Given the description of an element on the screen output the (x, y) to click on. 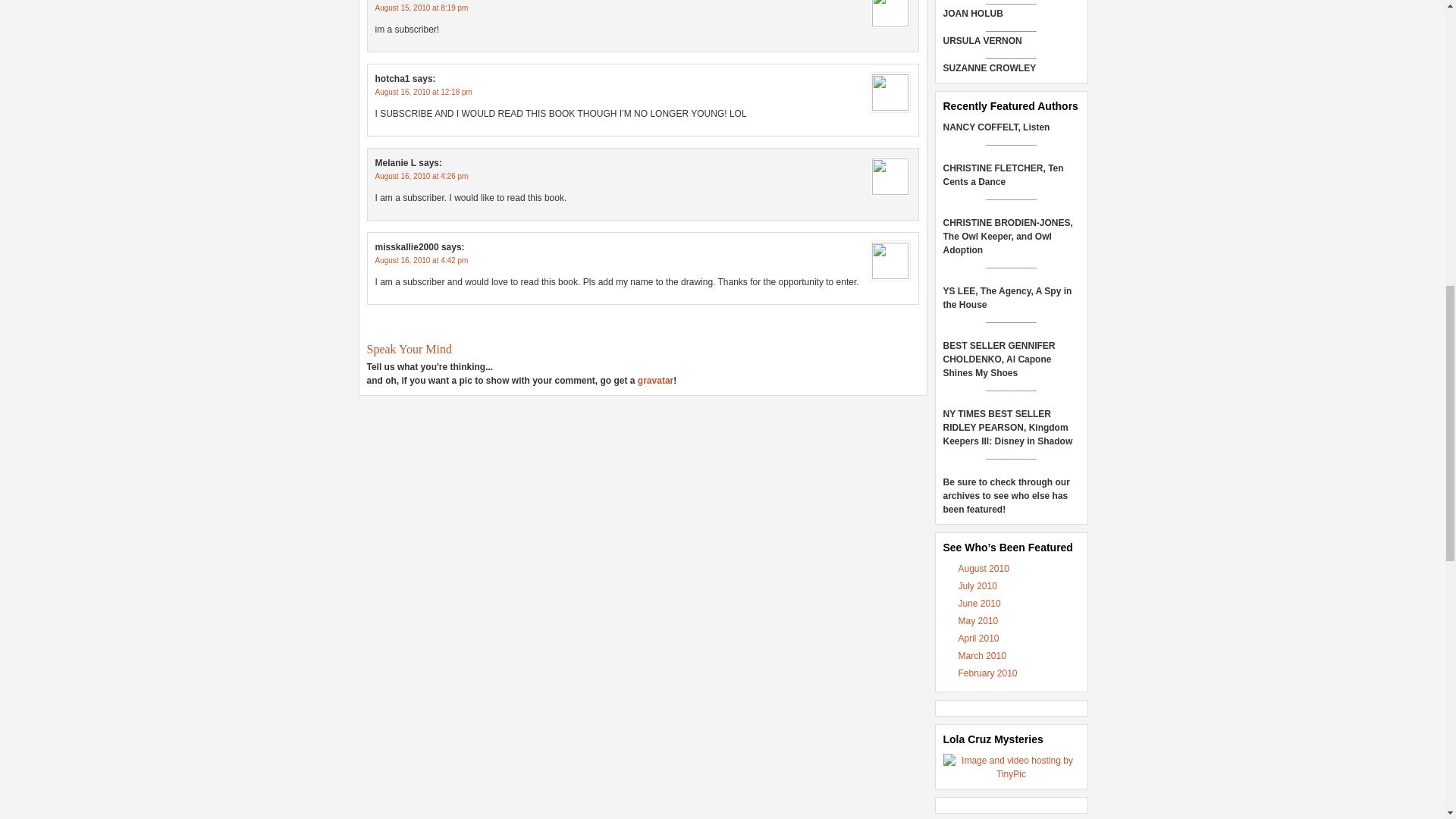
April 2010 (978, 638)
August 2010 (983, 568)
August 16, 2010 at 4:26 pm (420, 175)
August 16, 2010 at 4:42 pm (420, 260)
May 2010 (978, 620)
gravatar (654, 380)
July 2010 (977, 585)
August 16, 2010 at 12:18 pm (422, 91)
June 2010 (979, 603)
August 15, 2010 at 8:19 pm (420, 8)
